Given the description of an element on the screen output the (x, y) to click on. 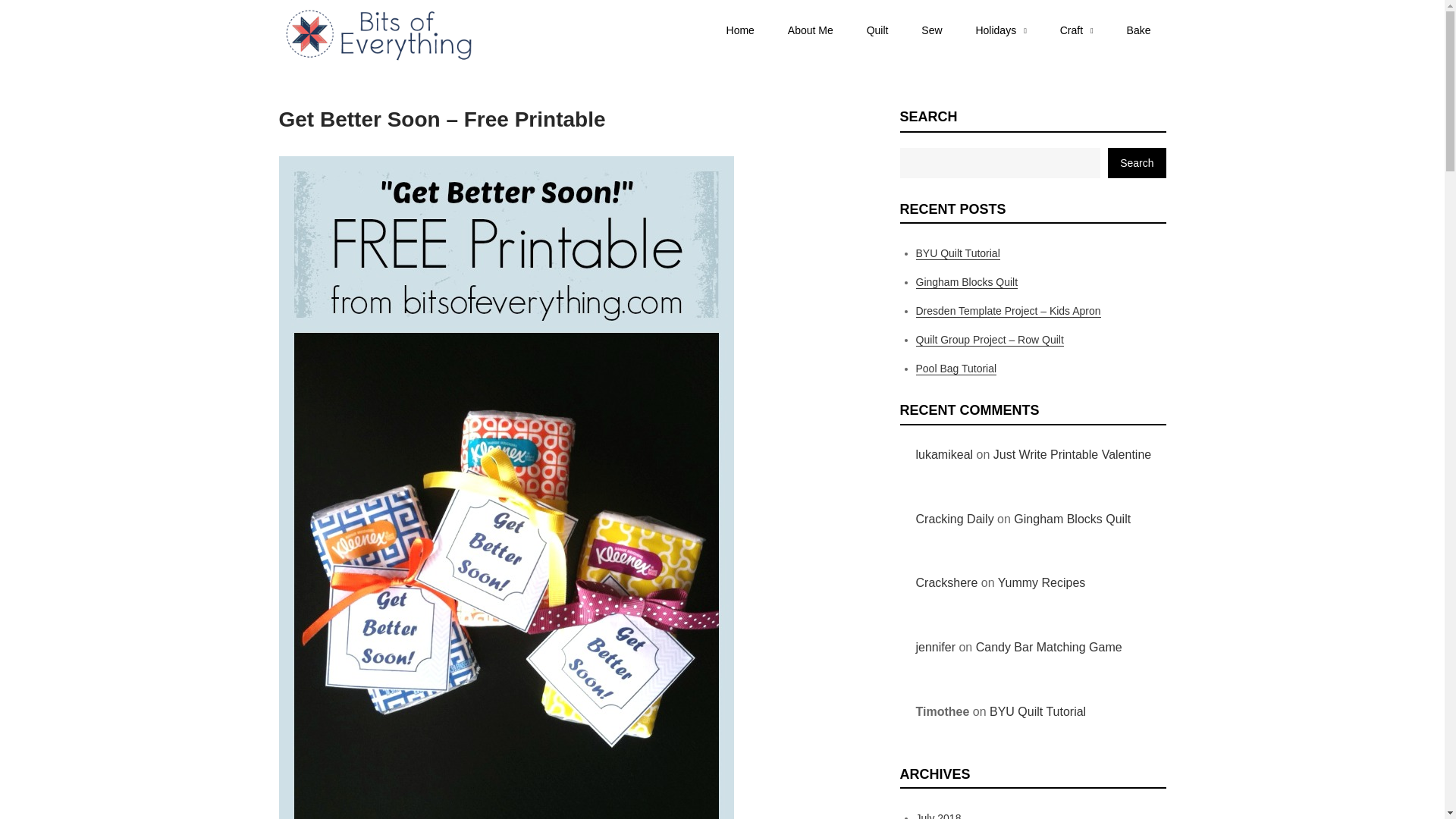
Home (740, 30)
Craft (1076, 30)
Bits of Everything (558, 44)
About Me (810, 30)
Holidays (1000, 30)
